Given the description of an element on the screen output the (x, y) to click on. 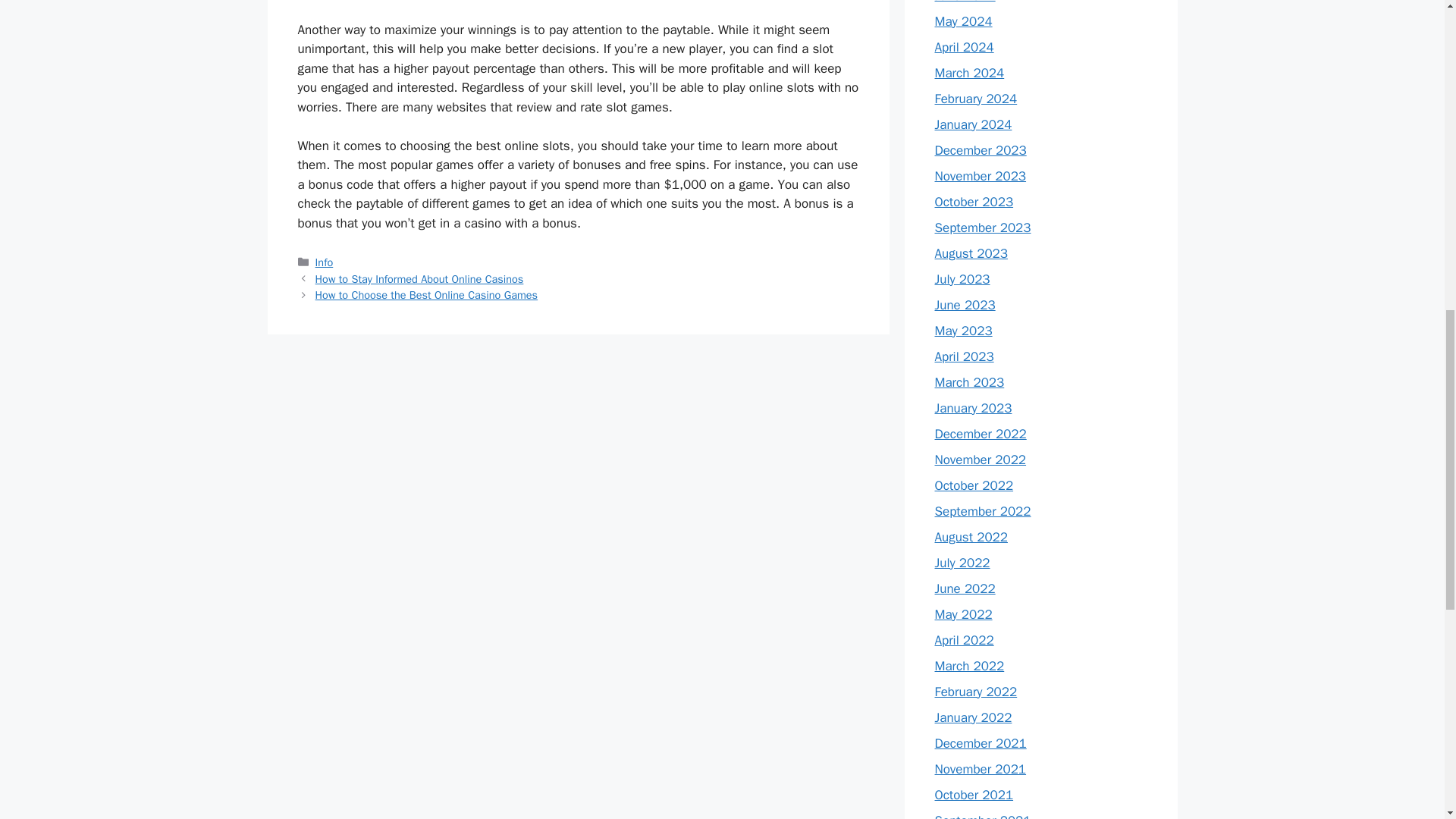
June 2023 (964, 304)
September 2023 (982, 227)
How to Choose the Best Online Casino Games (426, 295)
February 2024 (975, 98)
August 2022 (970, 537)
August 2023 (970, 253)
How to Stay Informed About Online Casinos (419, 278)
March 2024 (969, 73)
November 2022 (980, 459)
January 2023 (972, 408)
November 2023 (980, 176)
March 2023 (969, 382)
May 2024 (962, 21)
July 2023 (962, 279)
December 2022 (980, 433)
